Given the description of an element on the screen output the (x, y) to click on. 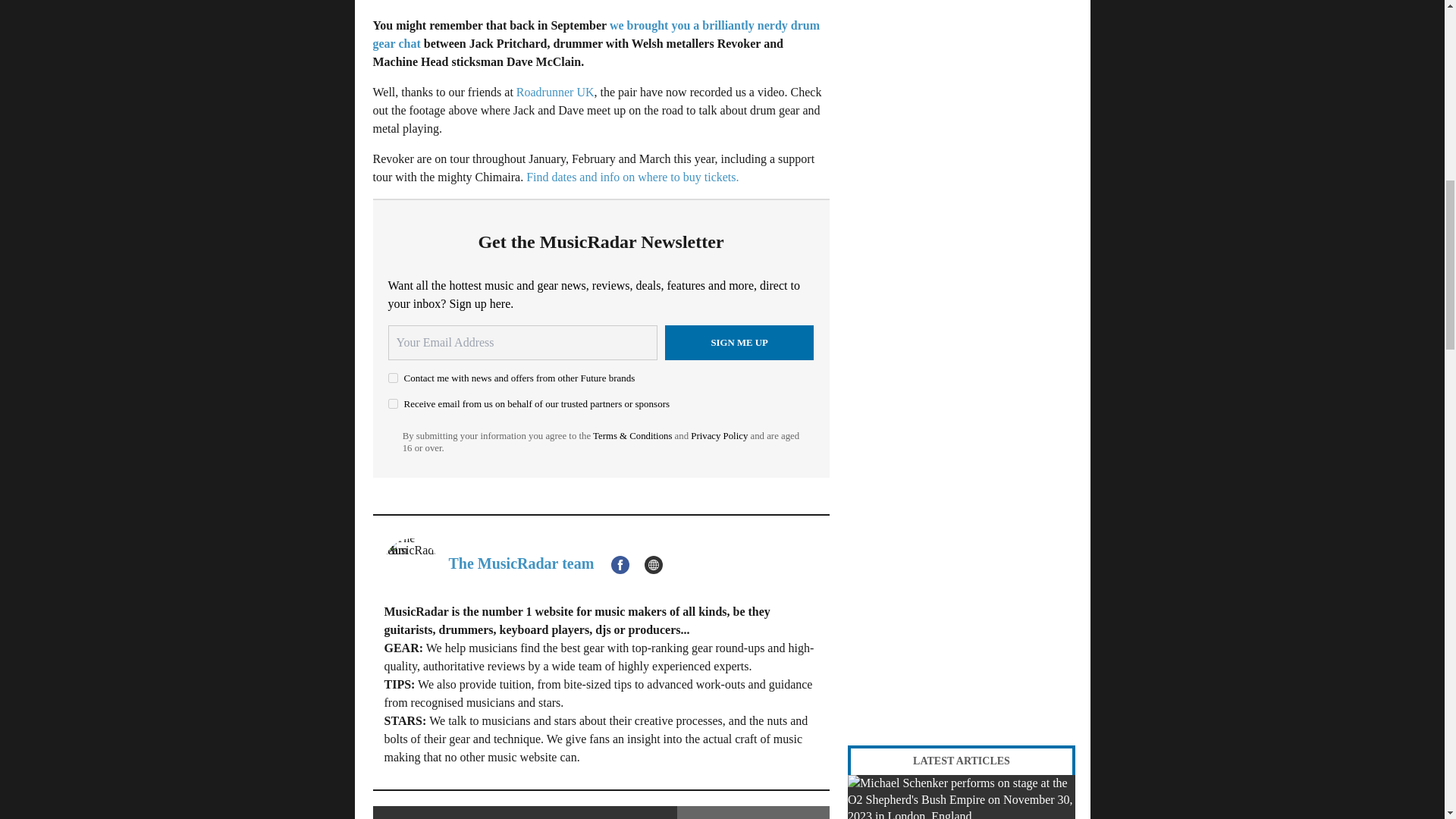
on (392, 403)
Sign me up (739, 342)
on (392, 378)
